Given the description of an element on the screen output the (x, y) to click on. 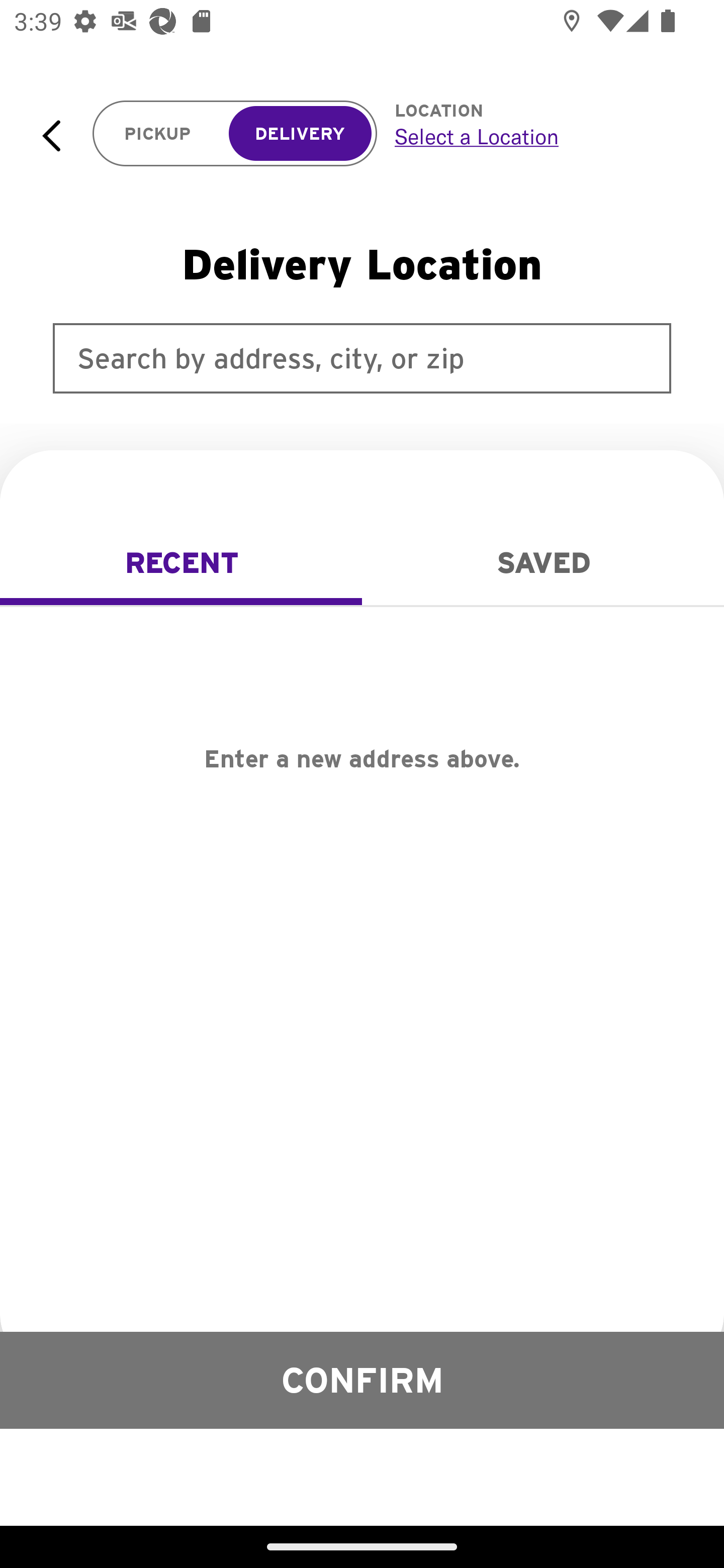
PICKUP (157, 133)
DELIVERY (299, 133)
Select a Location (536, 136)
Search by address, city, or zip (361, 358)
Saved SAVED (543, 562)
CONFIRM (362, 1379)
